Given the description of an element on the screen output the (x, y) to click on. 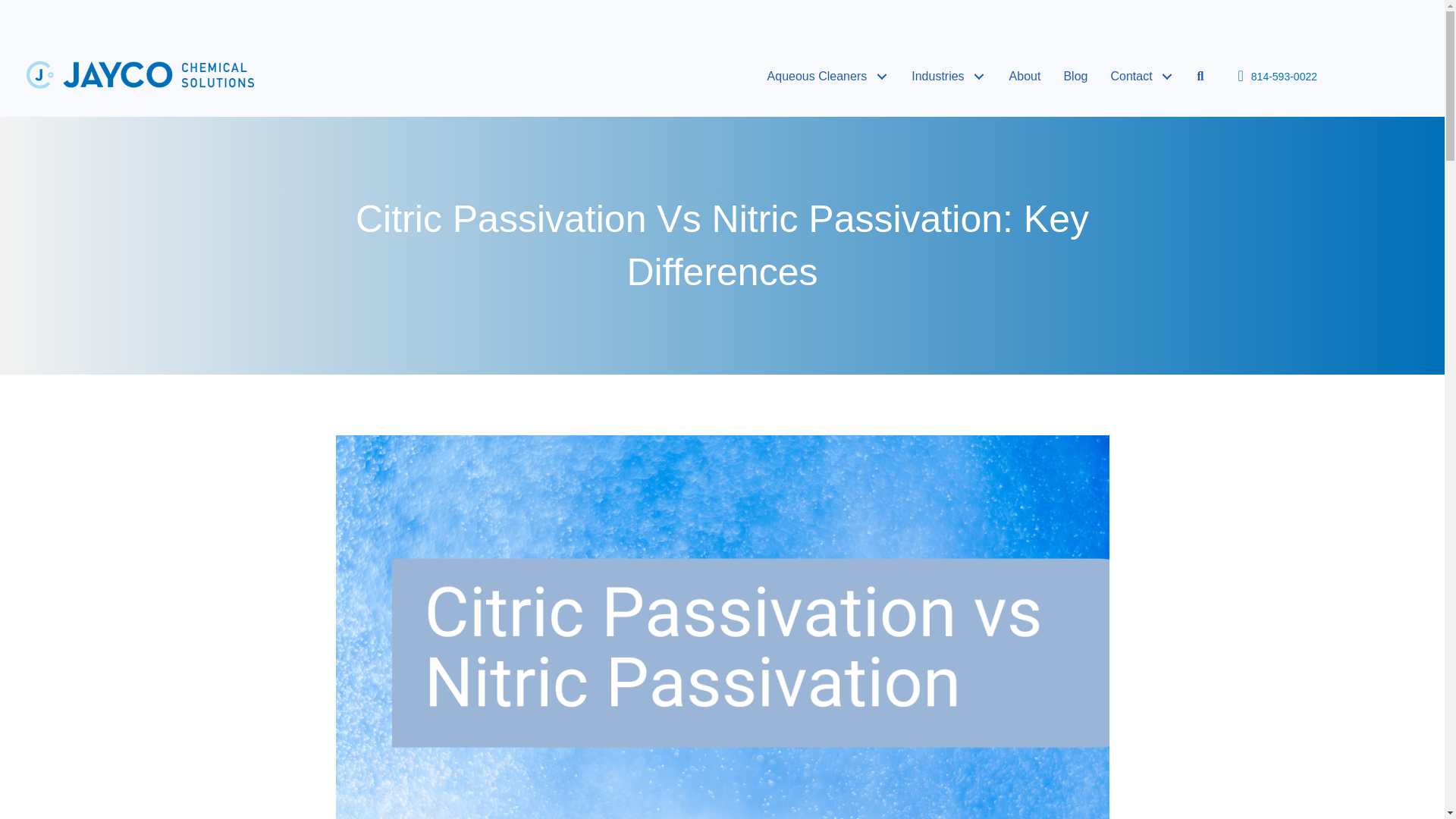
About (1024, 76)
Aqueous Cleaners (828, 76)
Contact (1142, 76)
Industries (948, 76)
Blog (1075, 76)
